Given the description of an element on the screen output the (x, y) to click on. 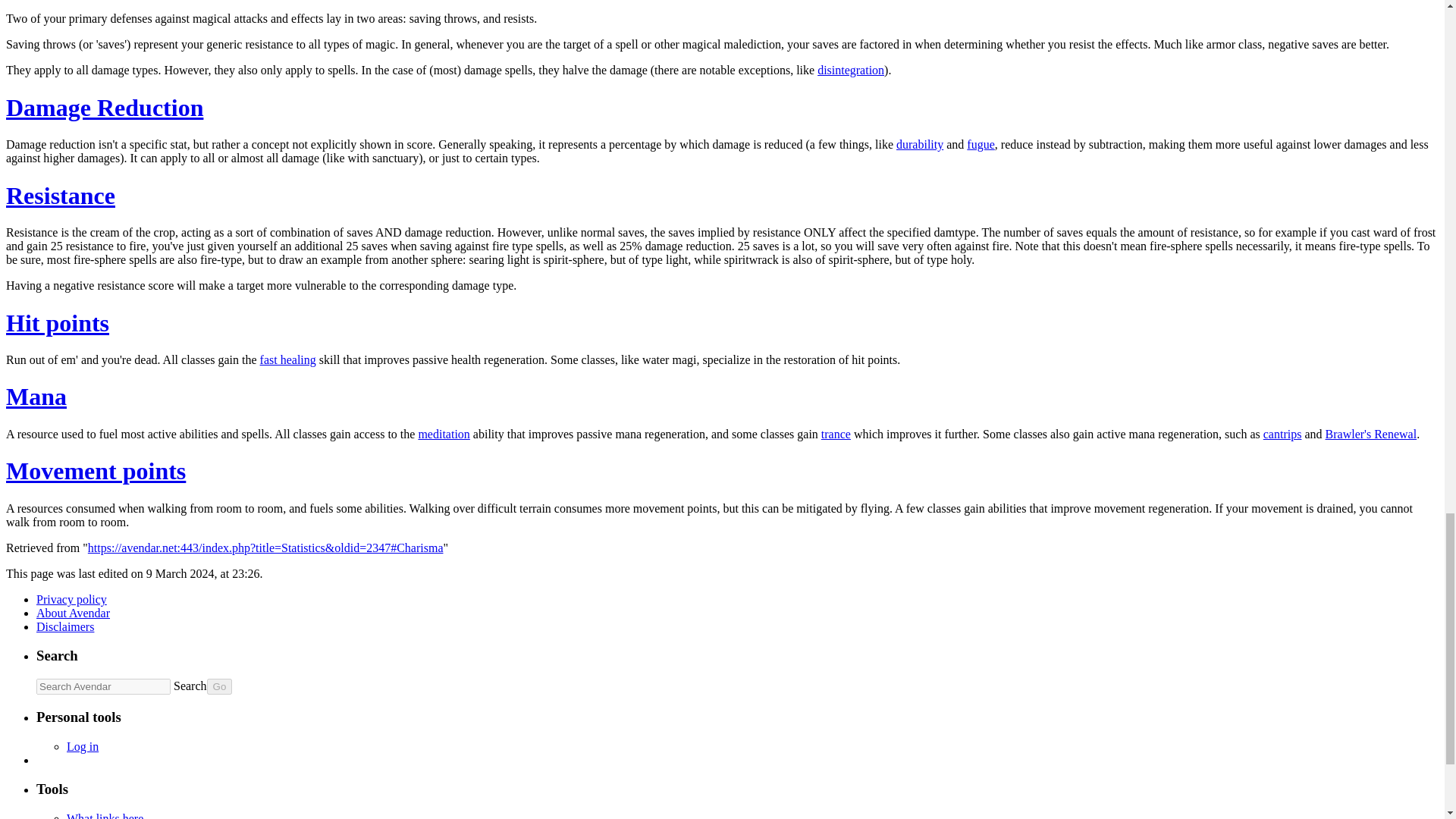
Go (219, 686)
Go (219, 686)
